Given the description of an element on the screen output the (x, y) to click on. 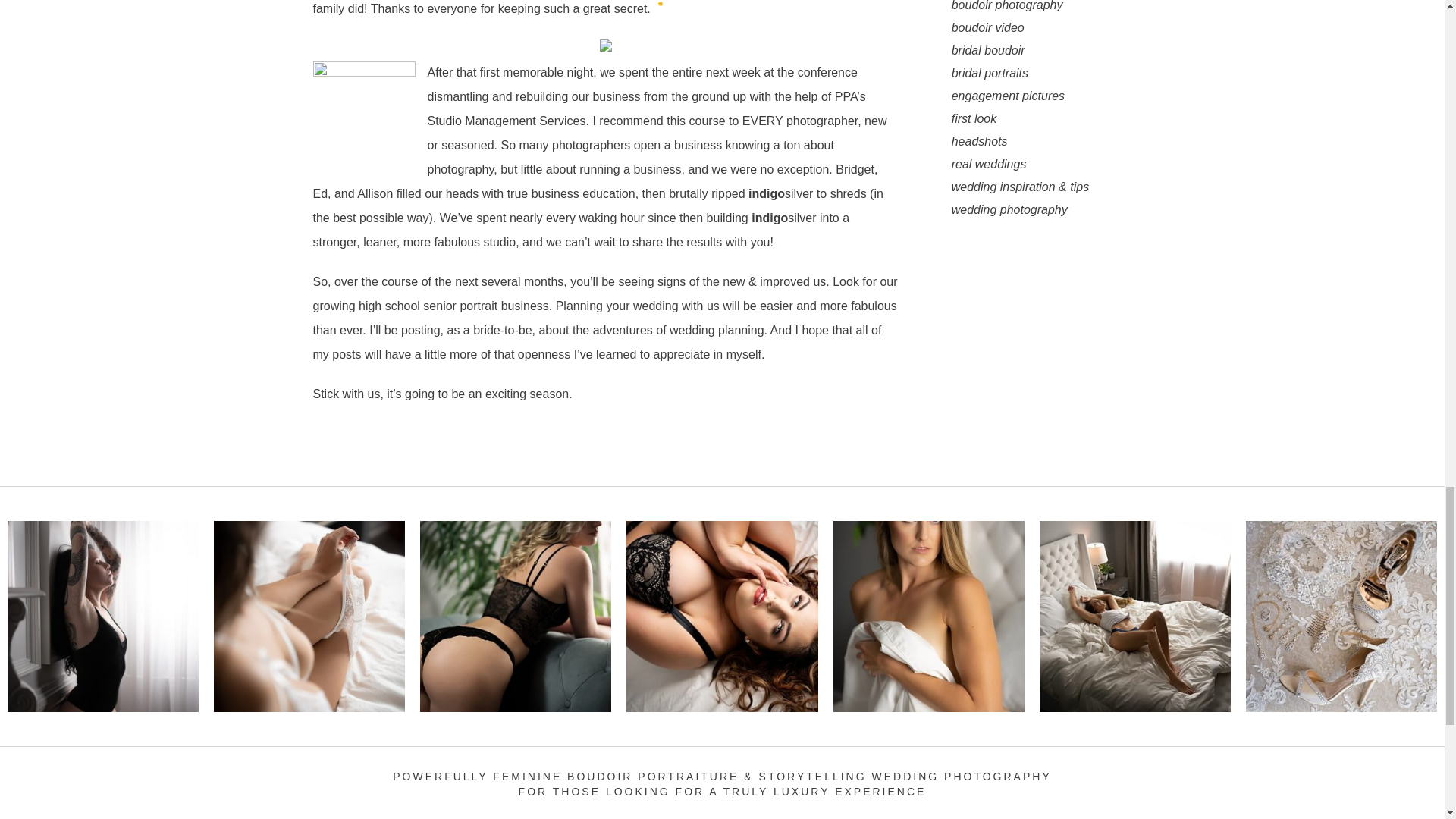
engagement pictures (1044, 96)
wilmington-north-carolina-boudoir-photographer-034.jpg (309, 615)
wilmington-north-carolina-boudoir-photographer-012 (1134, 615)
north-carolina-implied-boudoir-photography-004 (927, 615)
wilmington-north-carolina-boudoir-photographer-10 (102, 615)
first look (1044, 118)
wilmington-boudoir-pictures-022 (515, 615)
boudoir video (1044, 27)
boudoir photography (1044, 8)
bridal portraits (1044, 73)
wilmington-north-carolina-boudoir-photographer-035 (721, 615)
headshots (1044, 141)
bridal boudoir (1044, 50)
